Given the description of an element on the screen output the (x, y) to click on. 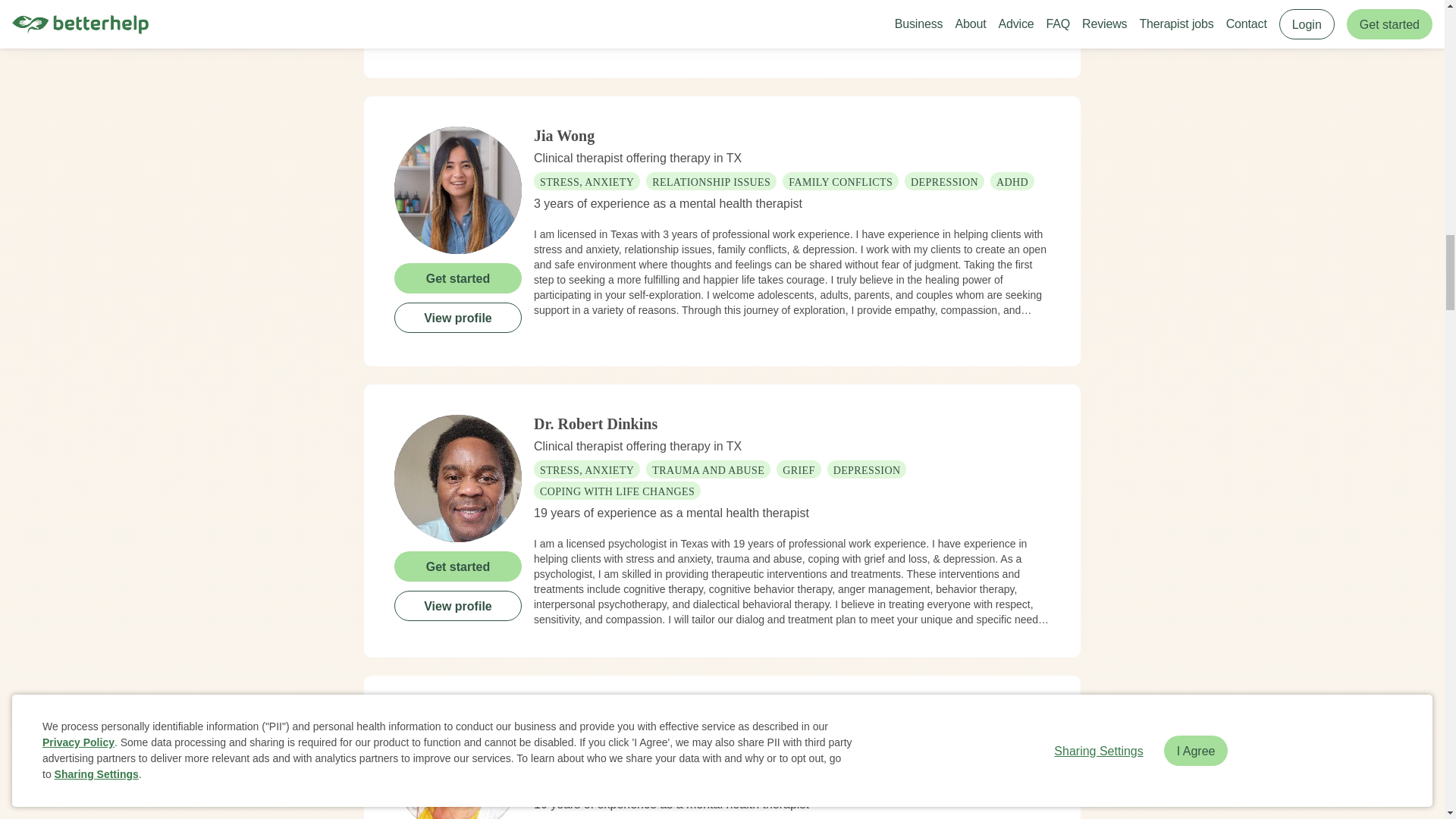
Get started (457, 2)
View profile (457, 28)
